Given the description of an element on the screen output the (x, y) to click on. 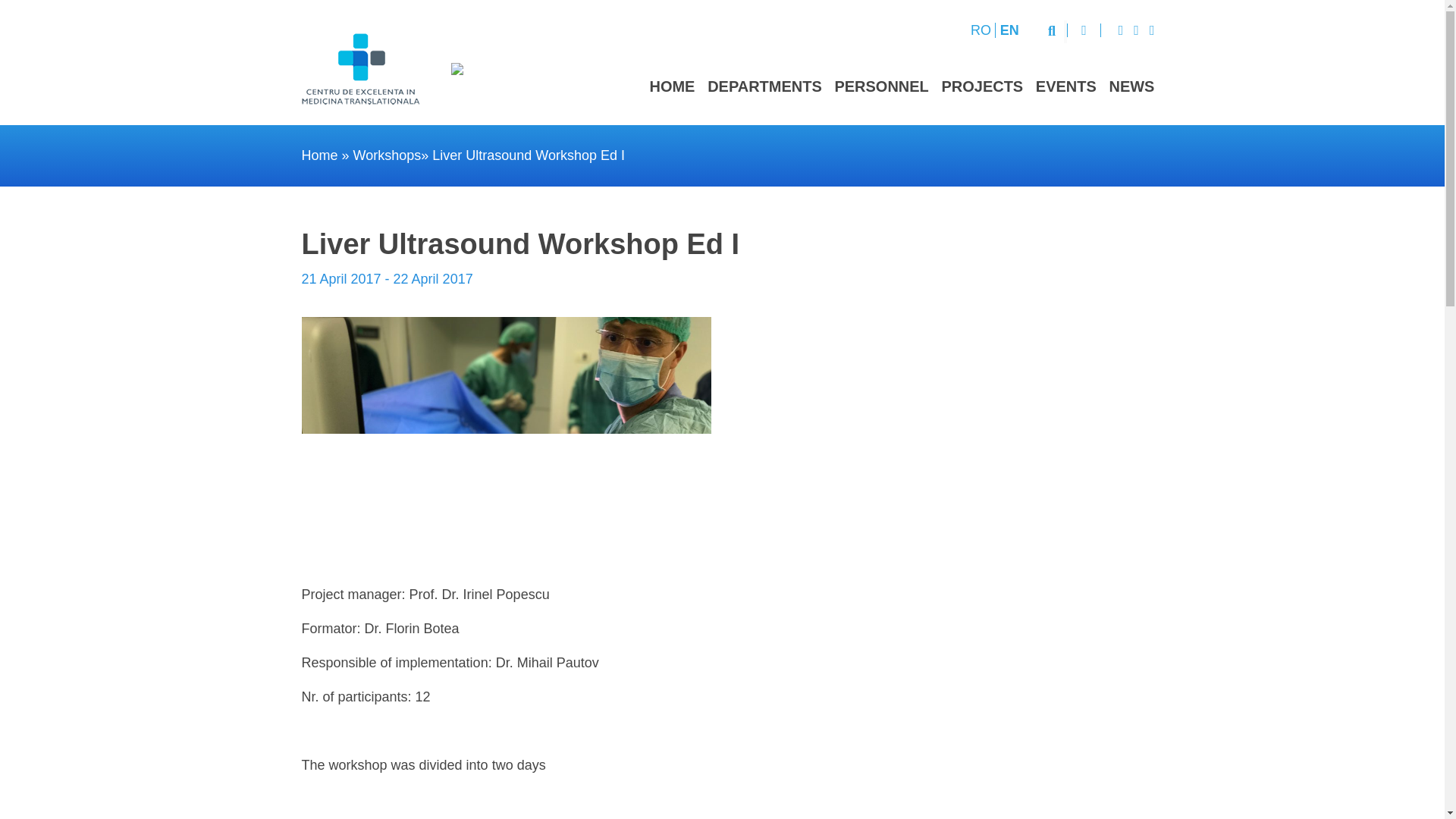
EVENTS (1065, 86)
PERSONNEL (881, 86)
PROJECTS (981, 86)
DEPARTMENTS (764, 86)
HOME (671, 86)
Home (319, 155)
RO (980, 29)
EN (1009, 29)
NEWS (1131, 86)
